Given the description of an element on the screen output the (x, y) to click on. 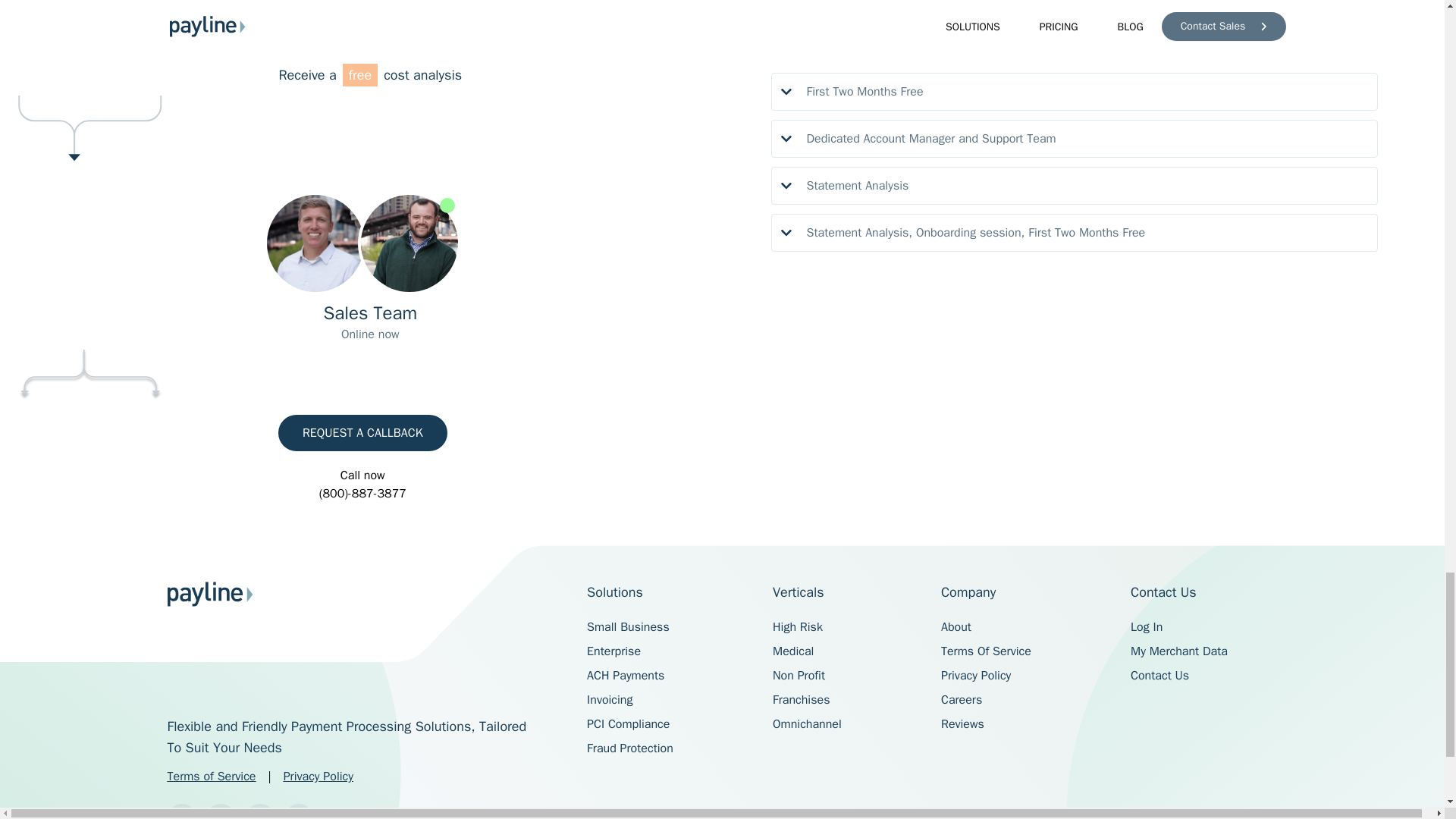
Small Business (627, 626)
PCI Compliance (627, 724)
Invoicing (608, 699)
Privacy Policy (318, 776)
Terms of Service (211, 776)
ACH Payments (624, 675)
REQUEST A CALLBACK (362, 432)
REQUEST A CALLBACK (362, 432)
Enterprise (613, 651)
Fraud Protection (629, 748)
